Given the description of an element on the screen output the (x, y) to click on. 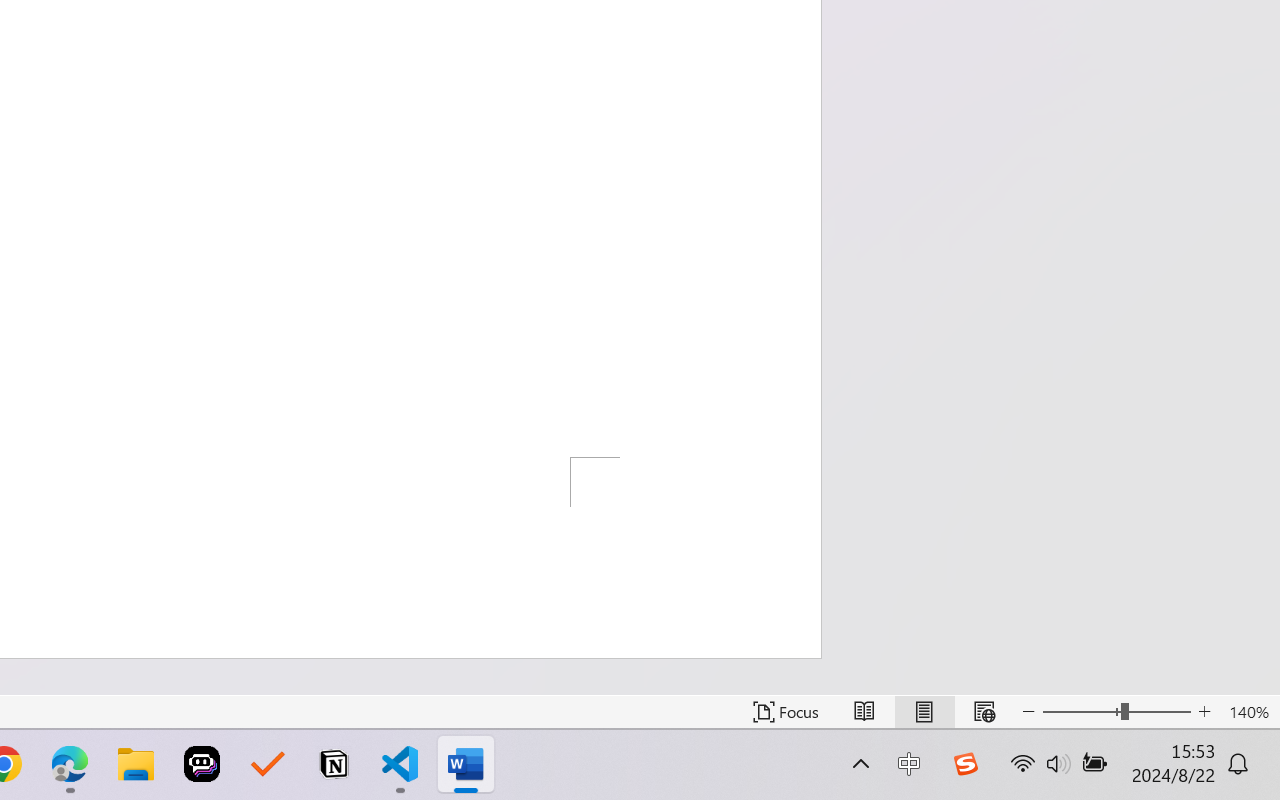
Zoom (1116, 712)
Zoom 140% (1249, 712)
Read Mode (864, 712)
Class: Image (965, 764)
Web Layout (984, 712)
Zoom Out (1081, 712)
Print Layout (924, 712)
Focus  (786, 712)
Zoom In (1204, 712)
